Given the description of an element on the screen output the (x, y) to click on. 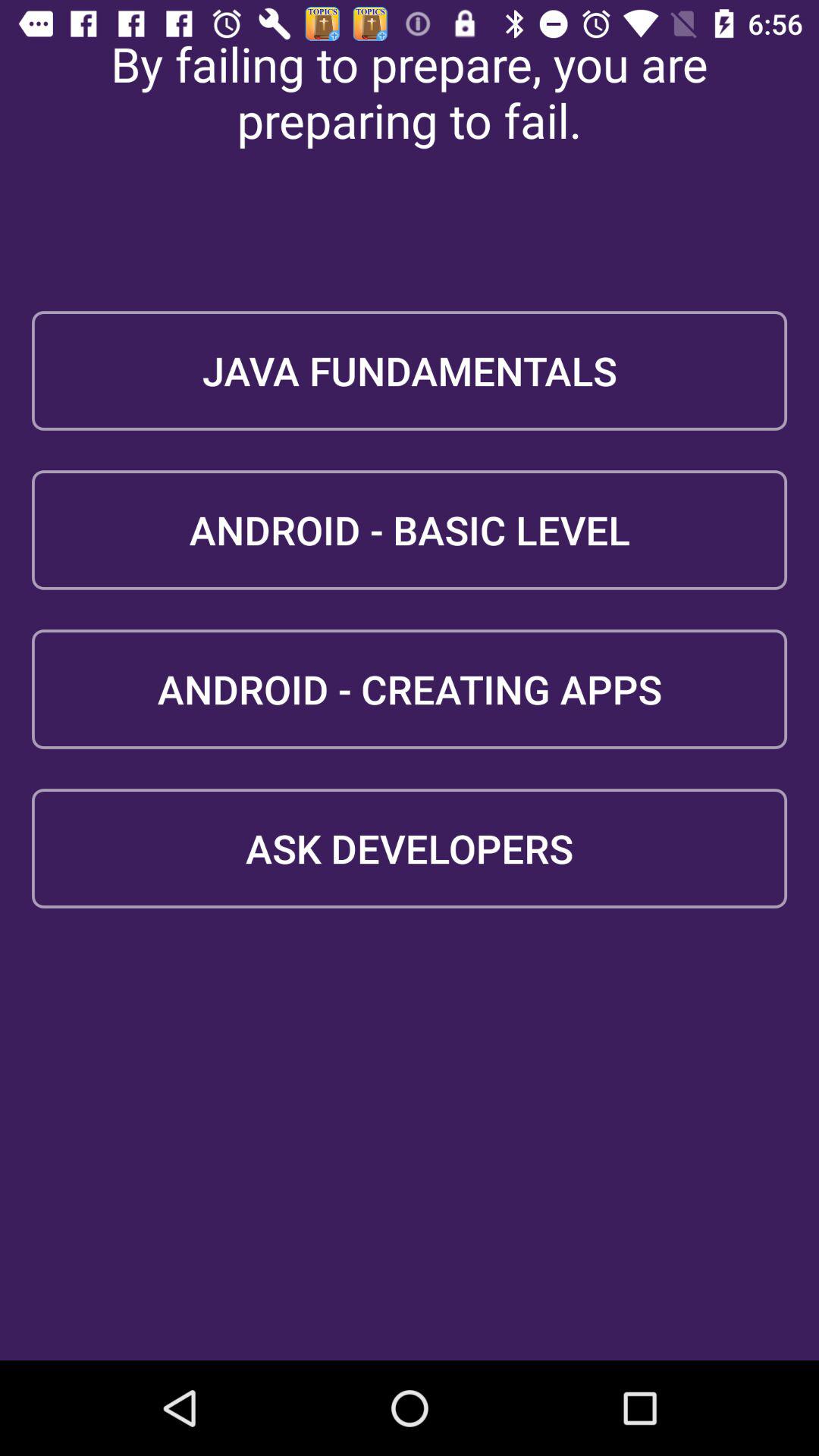
swipe until the ask developers (409, 848)
